Given the description of an element on the screen output the (x, y) to click on. 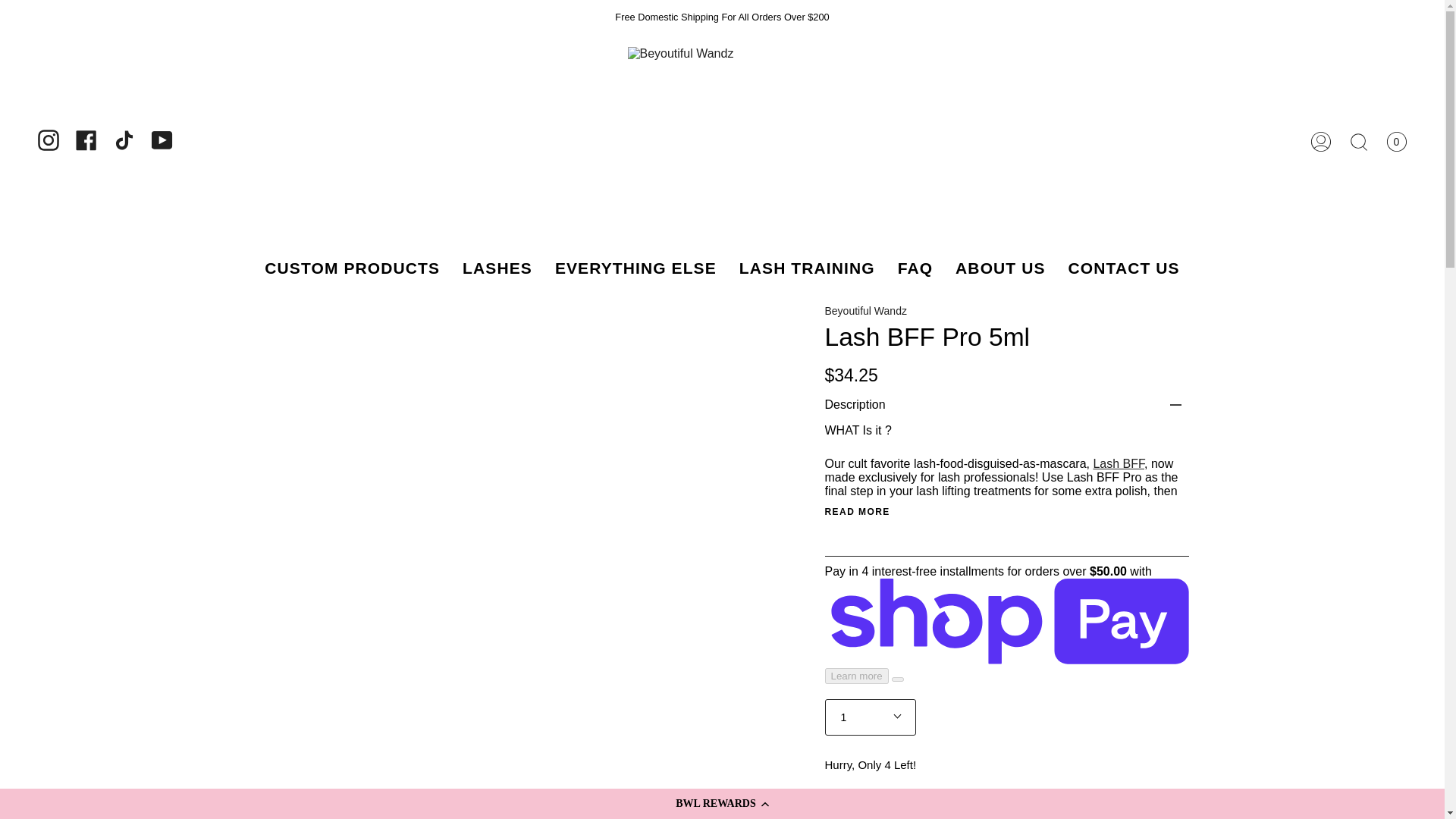
EVERYTHING ELSE (635, 268)
CUSTOM PRODUCTS (352, 268)
LASHES (497, 268)
